Given the description of an element on the screen output the (x, y) to click on. 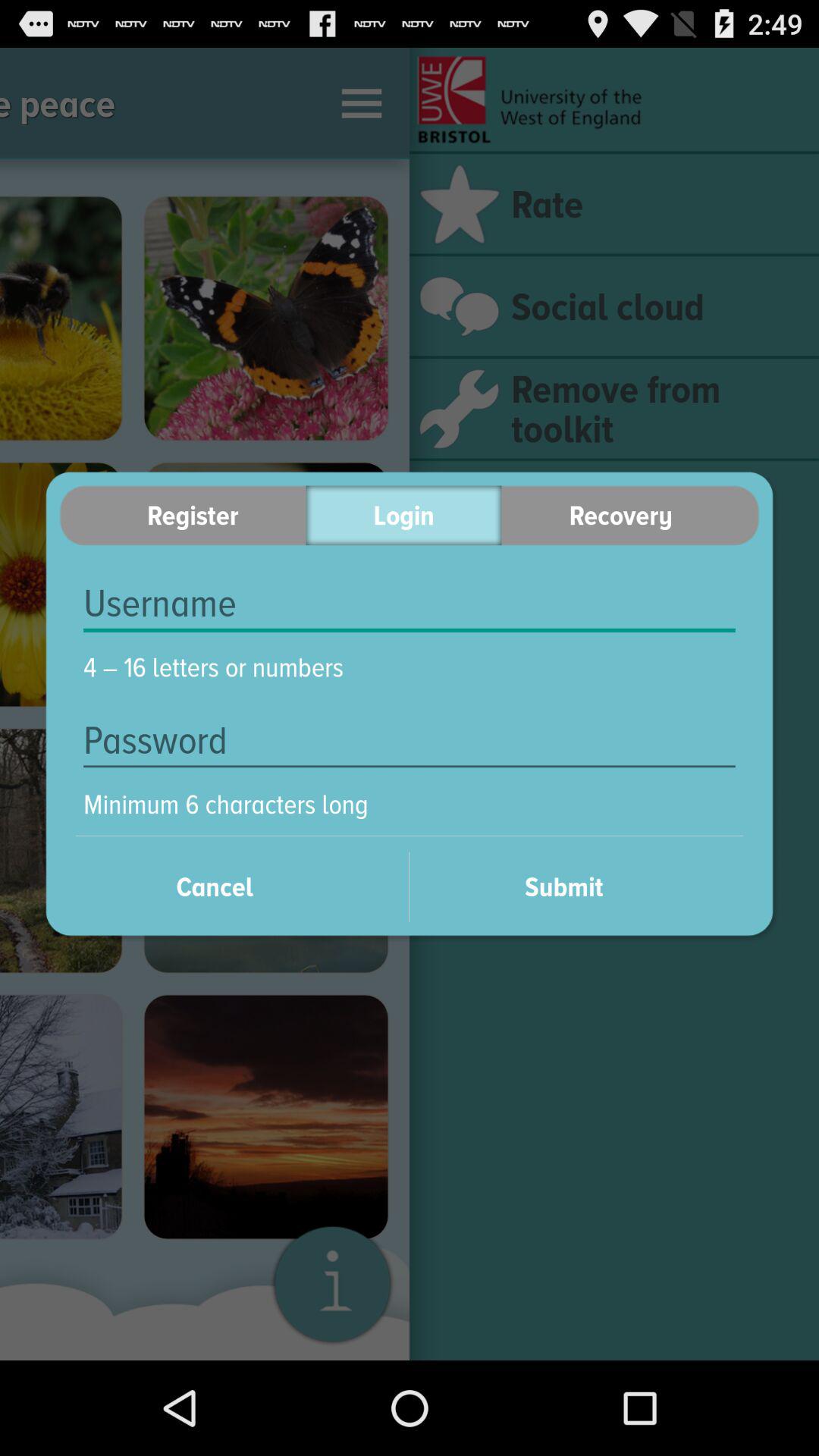
enter username (409, 603)
